Given the description of an element on the screen output the (x, y) to click on. 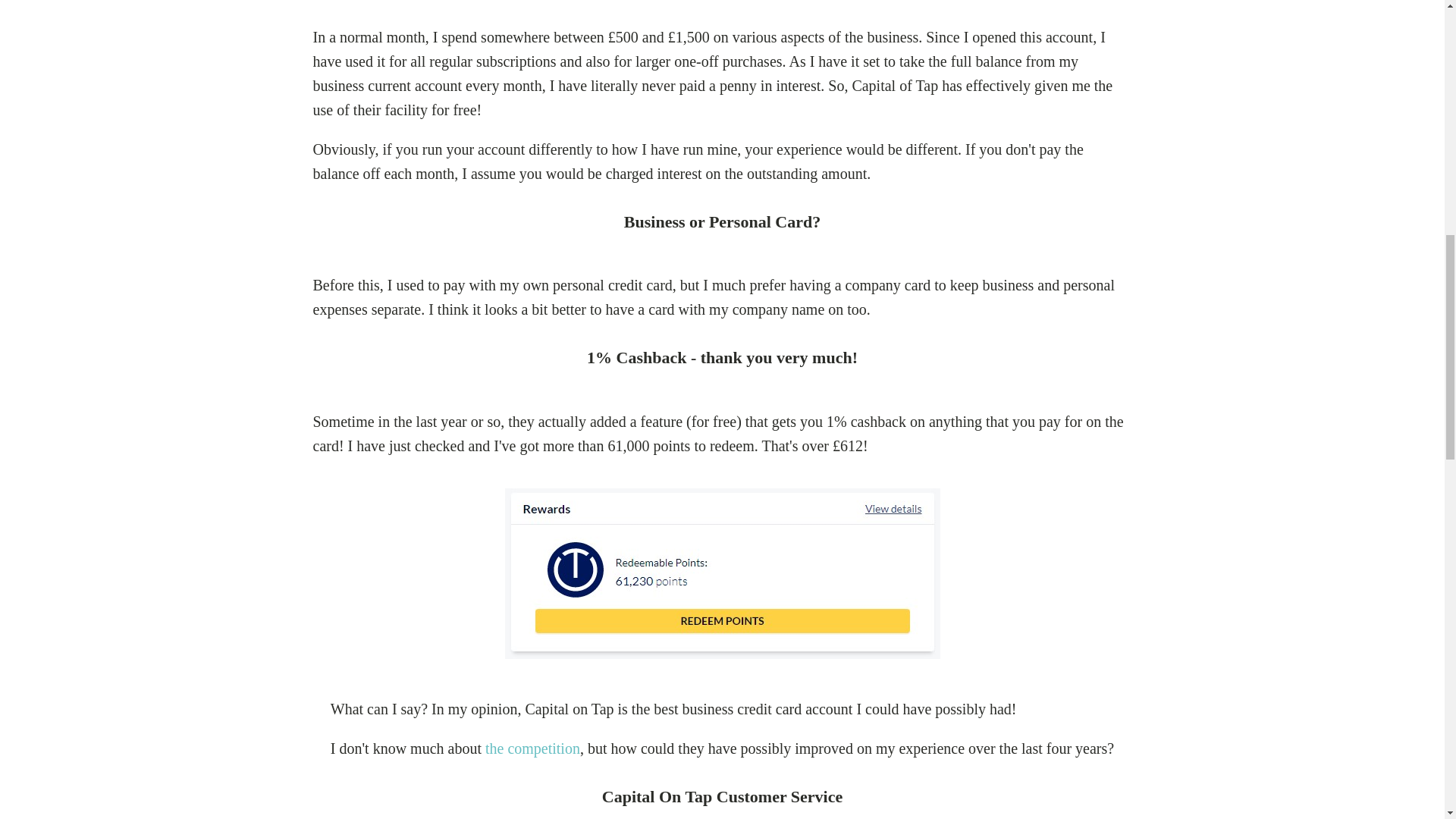
the competition (531, 748)
